Given the description of an element on the screen output the (x, y) to click on. 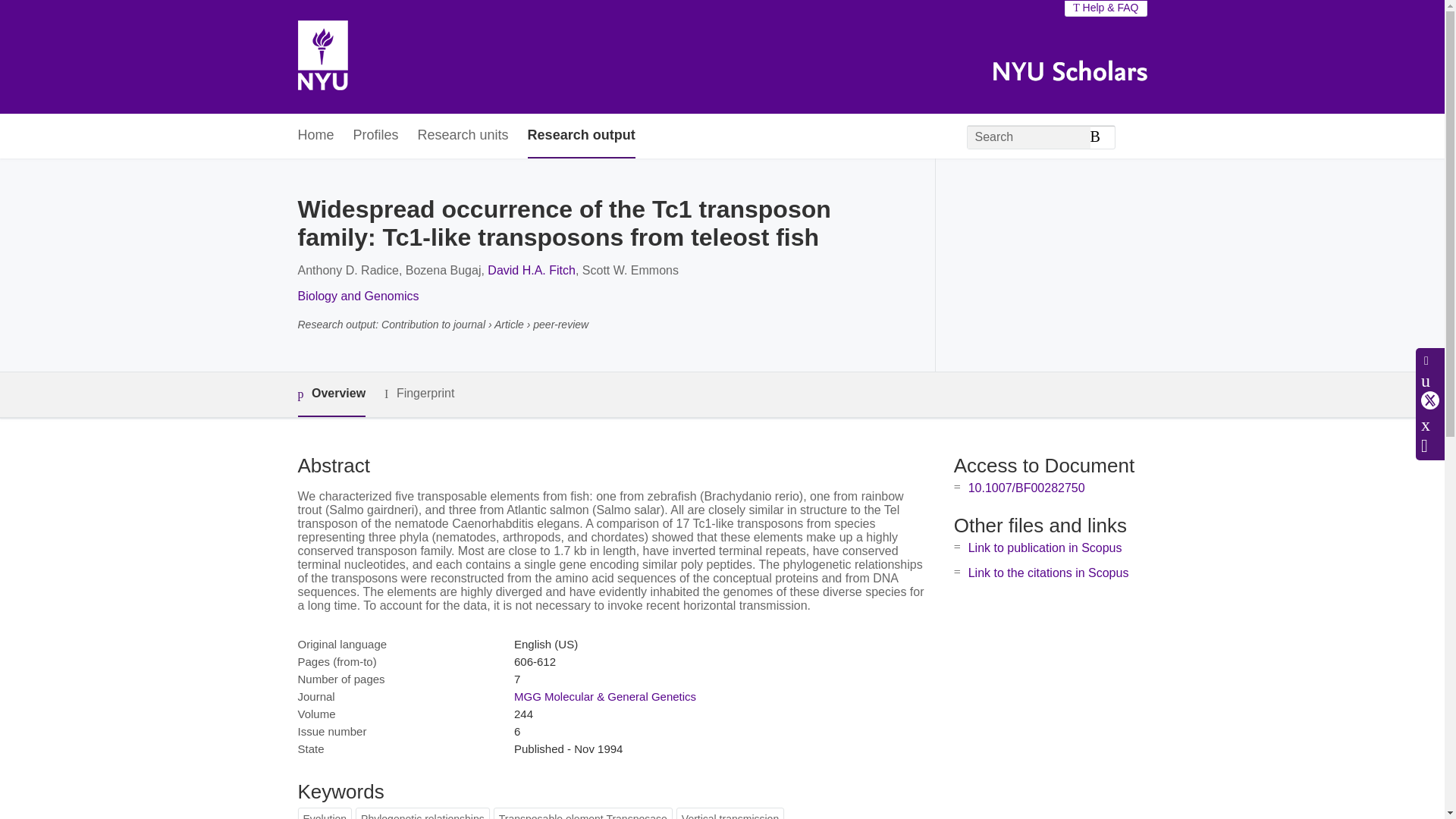
Fingerprint (419, 393)
Research output (580, 135)
Overview (331, 394)
Biology and Genomics (358, 295)
David H.A. Fitch (531, 269)
Research units (462, 135)
Link to publication in Scopus (1045, 547)
Link to the citations in Scopus (1048, 572)
Profiles (375, 135)
